Given the description of an element on the screen output the (x, y) to click on. 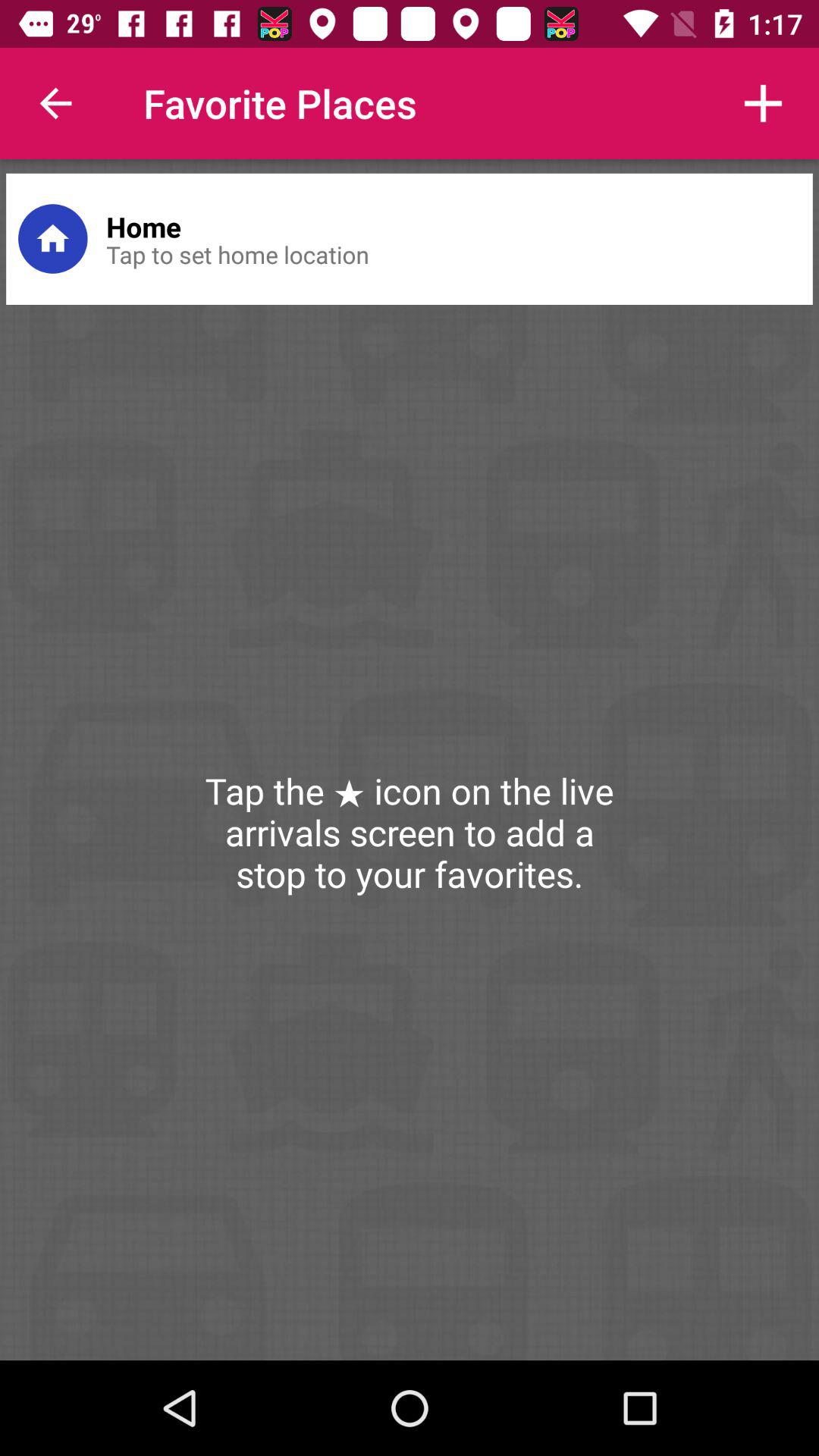
turn off item next to favorite places icon (55, 103)
